Given the description of an element on the screen output the (x, y) to click on. 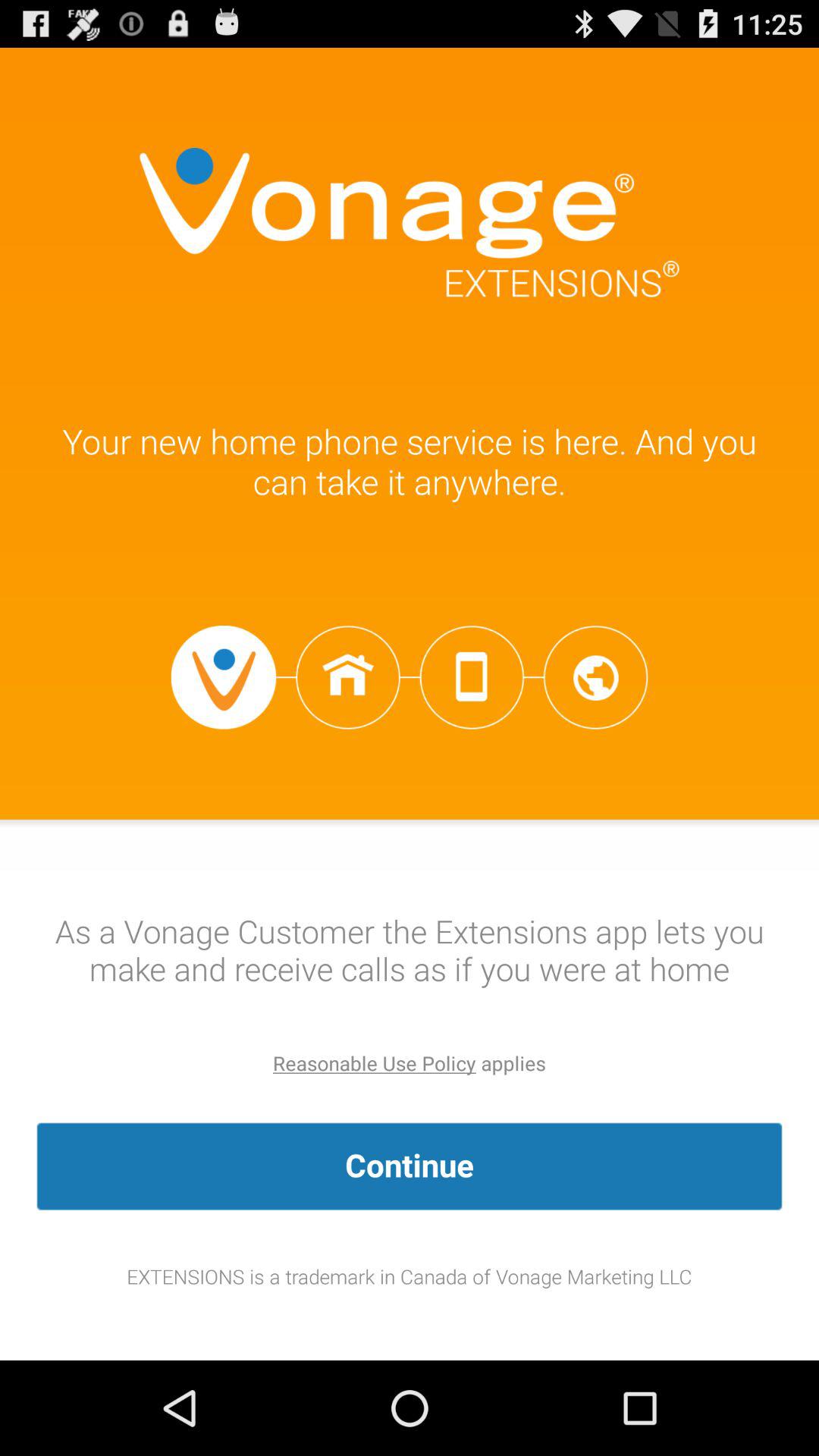
turn off icon above the continue icon (374, 1062)
